Given the description of an element on the screen output the (x, y) to click on. 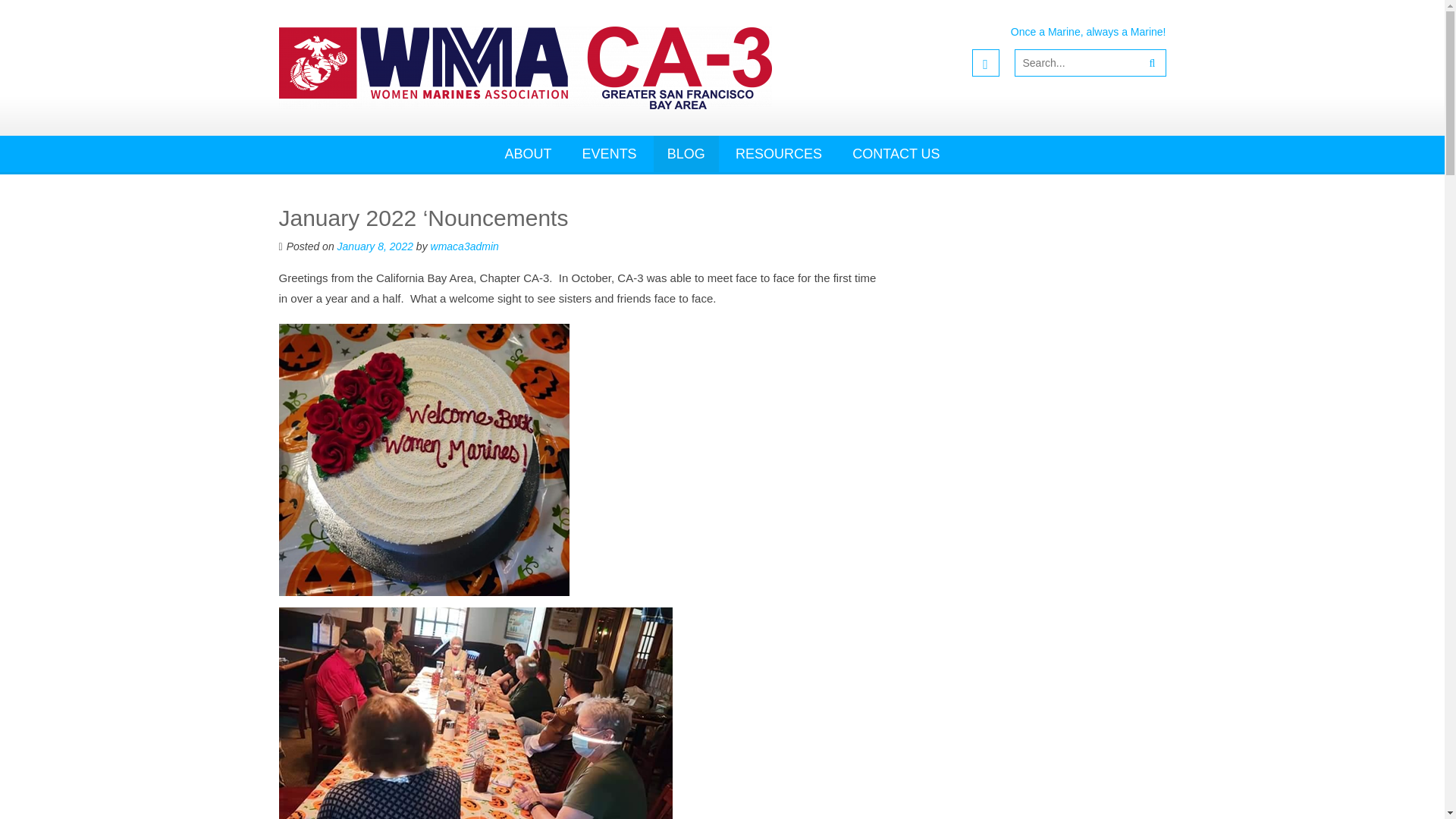
EVENTS (609, 153)
wmaca3admin (464, 246)
Facebook (985, 62)
BLOG (686, 153)
ABOUT (527, 153)
CONTACT US (895, 153)
January 8, 2022 (375, 246)
RESOURCES (778, 153)
